Given the description of an element on the screen output the (x, y) to click on. 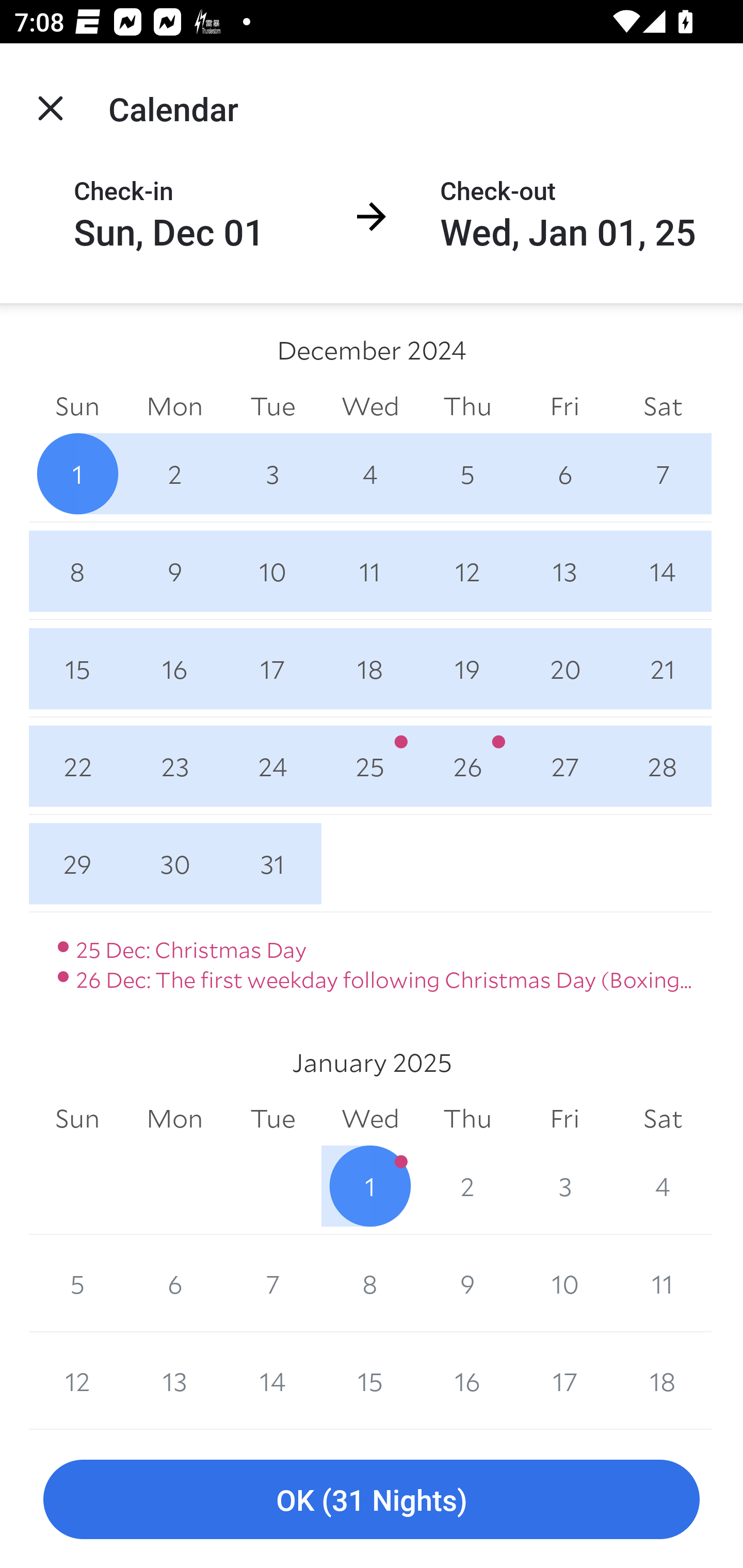
Sun (77, 405)
Mon (174, 405)
Tue (272, 405)
Wed (370, 405)
Thu (467, 405)
Fri (564, 405)
Sat (662, 405)
1 1 December 2024 (77, 473)
2 2 December 2024 (174, 473)
3 3 December 2024 (272, 473)
4 4 December 2024 (370, 473)
5 5 December 2024 (467, 473)
6 6 December 2024 (564, 473)
7 7 December 2024 (662, 473)
8 8 December 2024 (77, 570)
9 9 December 2024 (174, 570)
10 10 December 2024 (272, 570)
11 11 December 2024 (370, 570)
12 12 December 2024 (467, 570)
13 13 December 2024 (564, 570)
14 14 December 2024 (662, 570)
15 15 December 2024 (77, 668)
16 16 December 2024 (174, 668)
17 17 December 2024 (272, 668)
18 18 December 2024 (370, 668)
19 19 December 2024 (467, 668)
20 20 December 2024 (564, 668)
21 21 December 2024 (662, 668)
22 22 December 2024 (77, 766)
23 23 December 2024 (174, 766)
24 24 December 2024 (272, 766)
25 25 December 2024 (370, 766)
26 26 December 2024 (467, 766)
27 27 December 2024 (564, 766)
28 28 December 2024 (662, 766)
29 29 December 2024 (77, 863)
30 30 December 2024 (174, 863)
31 31 December 2024 (272, 863)
Sun (77, 1118)
Mon (174, 1118)
Tue (272, 1118)
Wed (370, 1118)
Thu (467, 1118)
Fri (564, 1118)
Sat (662, 1118)
1 1 January 2025 (370, 1185)
2 2 January 2025 (467, 1185)
3 3 January 2025 (564, 1185)
4 4 January 2025 (662, 1185)
